Given the description of an element on the screen output the (x, y) to click on. 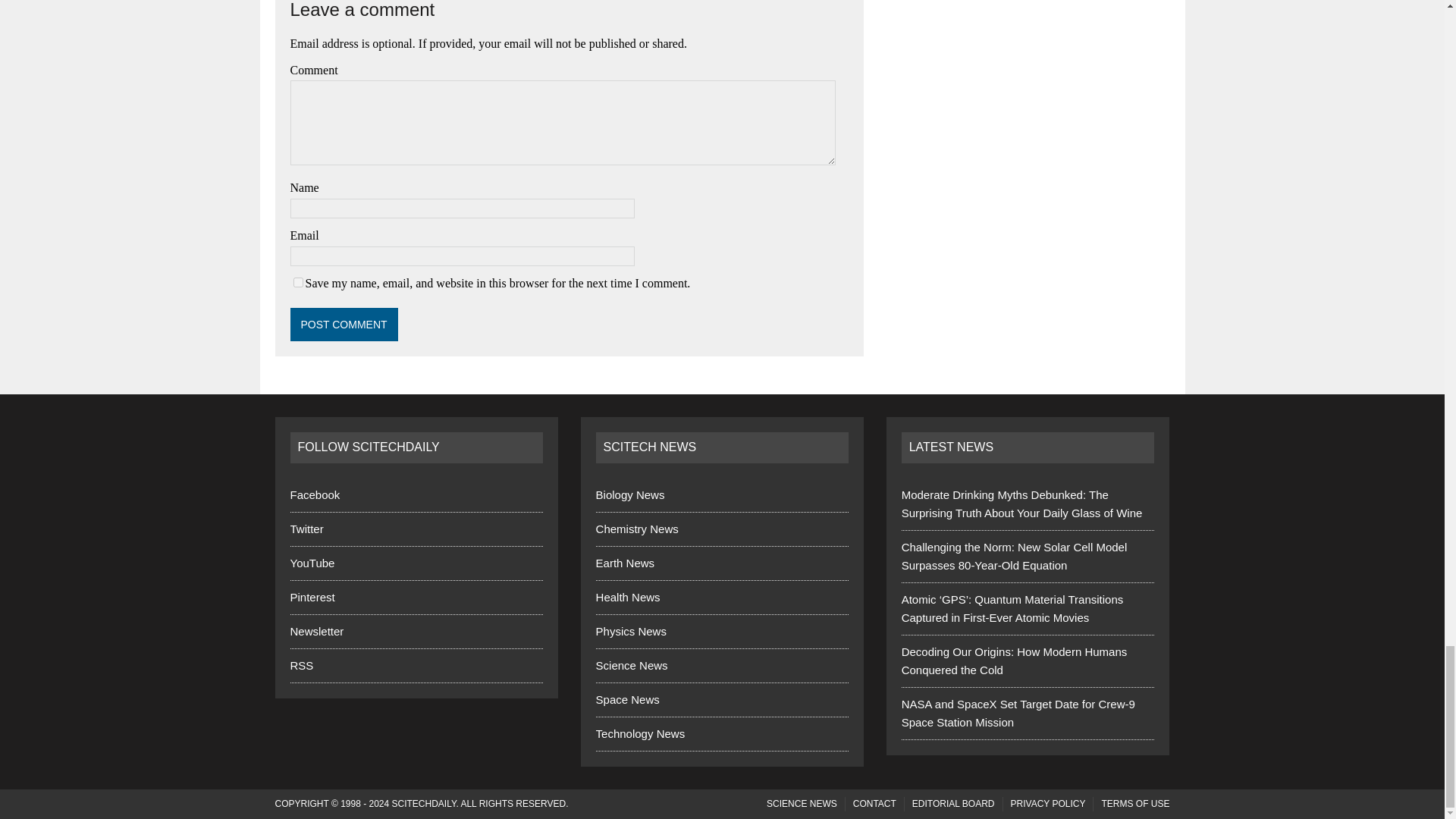
Post Comment (343, 324)
yes (297, 282)
